Given the description of an element on the screen output the (x, y) to click on. 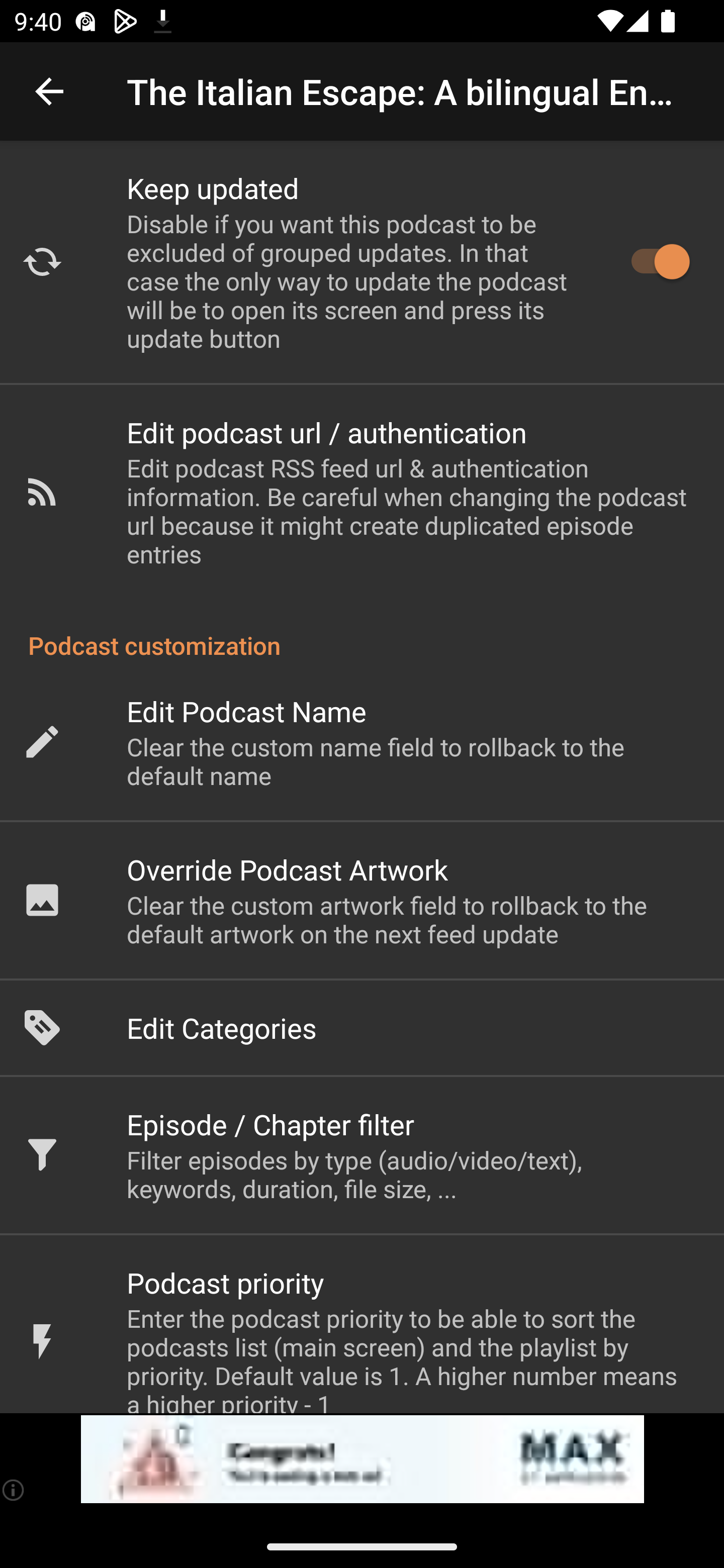
Navigate up (49, 91)
Edit Categories (362, 1027)
app-monetization (362, 1459)
(i) (14, 1489)
